Given the description of an element on the screen output the (x, y) to click on. 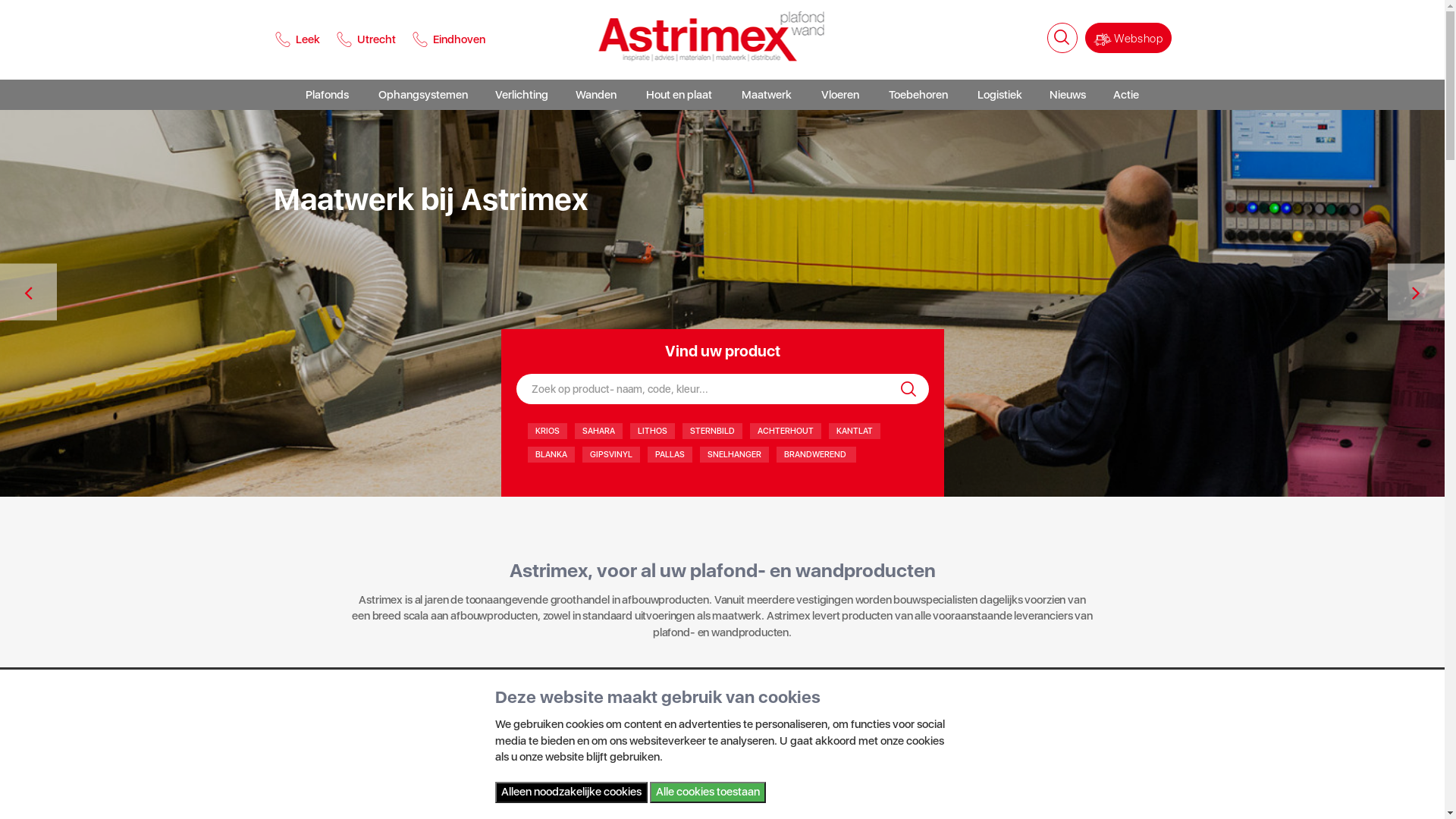
LITHOS Element type: text (651, 431)
Logistiek Element type: text (999, 94)
KRIOS Element type: text (547, 431)
Toebehoren Element type: text (918, 94)
Verlichting Element type: text (521, 94)
Hout en plaat Element type: text (678, 94)
Nieuws Element type: text (1067, 94)
Webshop Element type: text (1128, 37)
SNELHANGER Element type: text (733, 454)
Alle cookies toestaan Element type: text (707, 791)
Vloeren Element type: text (839, 94)
Utrecht Element type: text (365, 39)
KANTLAT Element type: text (853, 431)
Previous Element type: text (28, 291)
Actie Element type: text (1125, 94)
  Element type: text (722, 199)
Wanden Element type: text (595, 94)
Ophangsystemen Element type: text (422, 94)
GIPSVINYL Element type: text (611, 454)
Maatwerk Element type: text (766, 94)
BRANDWEREND  Element type: text (816, 454)
PALLAS Element type: text (669, 454)
SAHARA Element type: text (598, 431)
STERNBILD Element type: text (712, 431)
Next Element type: text (1415, 291)
Eindhoven Element type: text (447, 39)
Alleen noodzakelijke cookies Element type: text (570, 791)
Plafonds Element type: text (326, 94)
ACHTERHOUT Element type: text (784, 431)
BLANKA Element type: text (550, 454)
Leek Element type: text (299, 39)
